Given the description of an element on the screen output the (x, y) to click on. 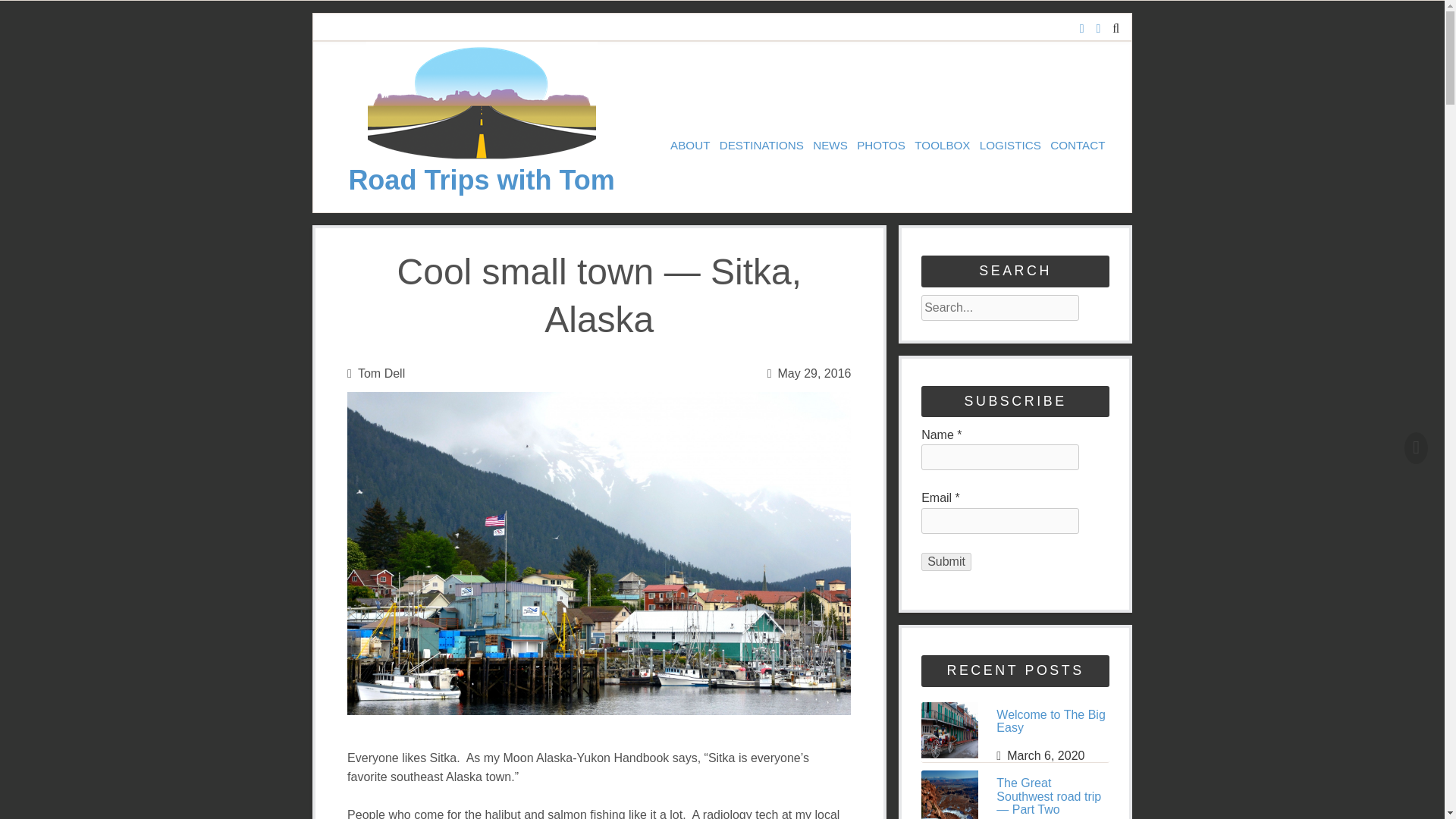
LOGISTICS (1010, 145)
DESTINATIONS (761, 145)
CONTACT (1077, 145)
Road Trips with Tom (481, 156)
PHOTOS (880, 145)
ABOUT (689, 145)
Submit (946, 561)
NEWS (829, 145)
Search (1084, 296)
Road Trips with Tom (480, 180)
